Given the description of an element on the screen output the (x, y) to click on. 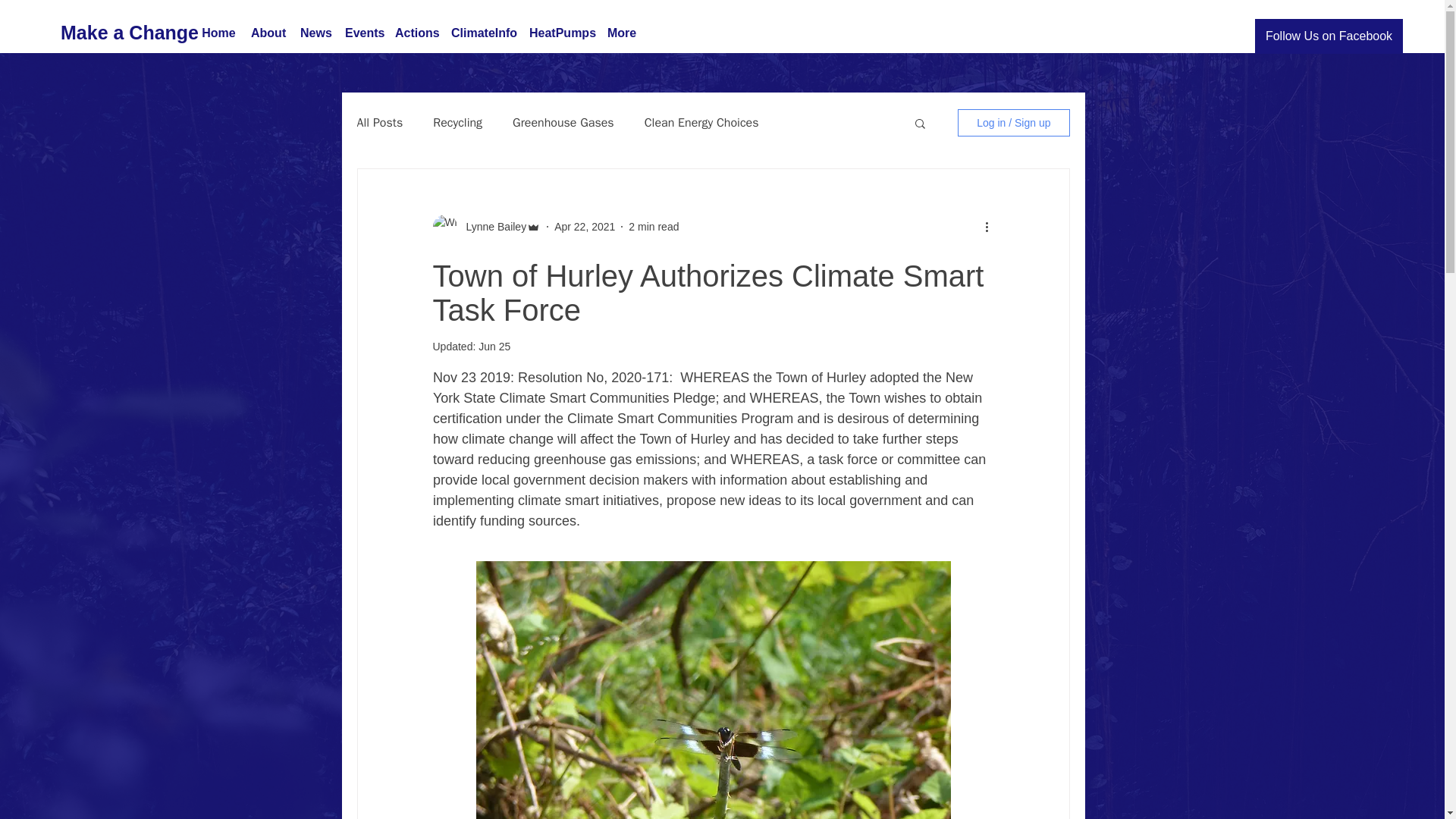
Recycling (456, 123)
Home (218, 33)
Clean Energy Choices (701, 123)
Actions (415, 33)
Greenhouse Gases (563, 123)
Lynne Bailey (491, 226)
ClimateInfo (482, 33)
Jun 25 (495, 346)
News (314, 33)
Apr 22, 2021 (584, 225)
About (267, 33)
Events (362, 33)
Make a Change (129, 32)
2 min read (653, 225)
HeatPumps (560, 33)
